Given the description of an element on the screen output the (x, y) to click on. 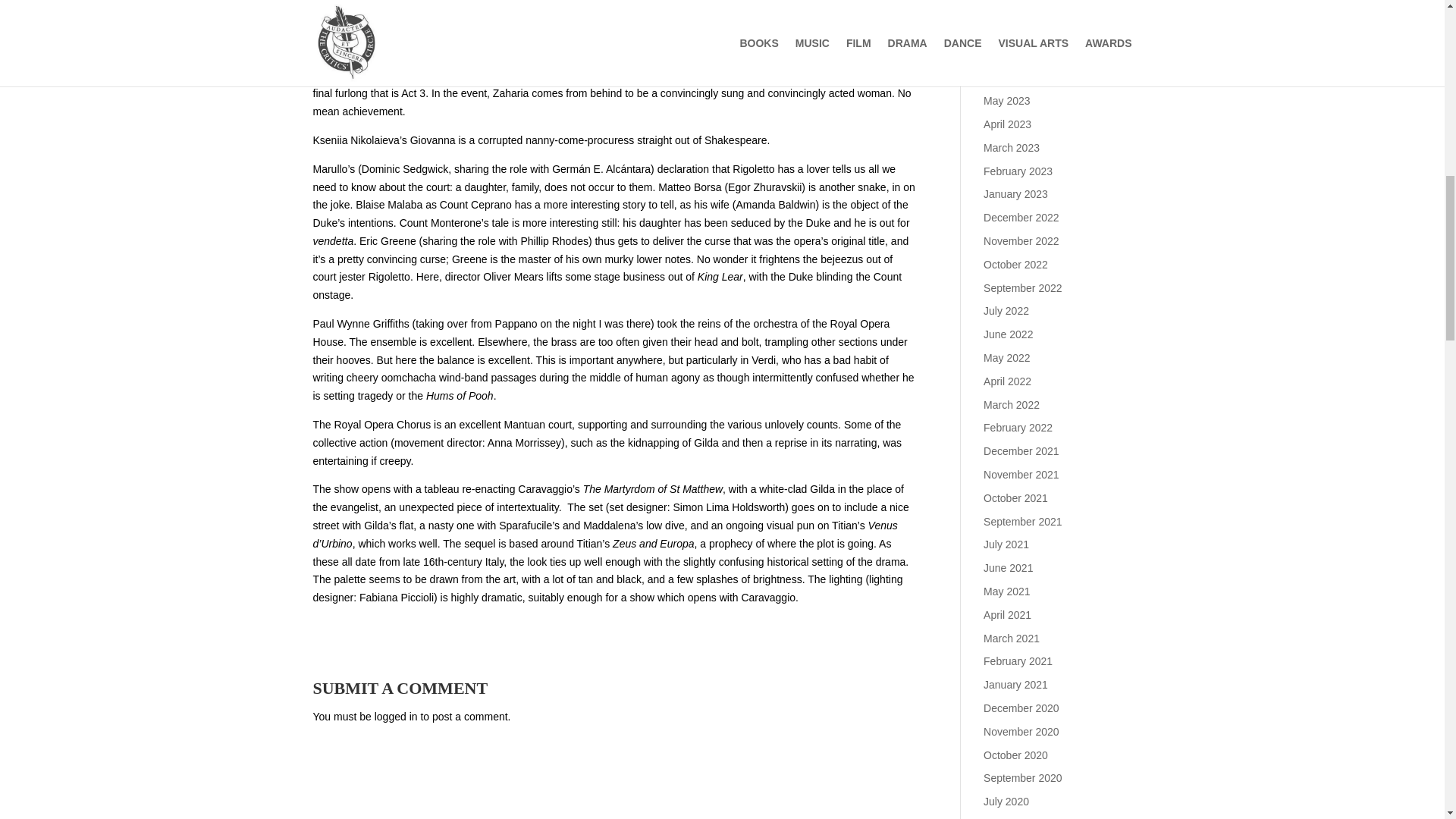
logged in (395, 716)
